Given the description of an element on the screen output the (x, y) to click on. 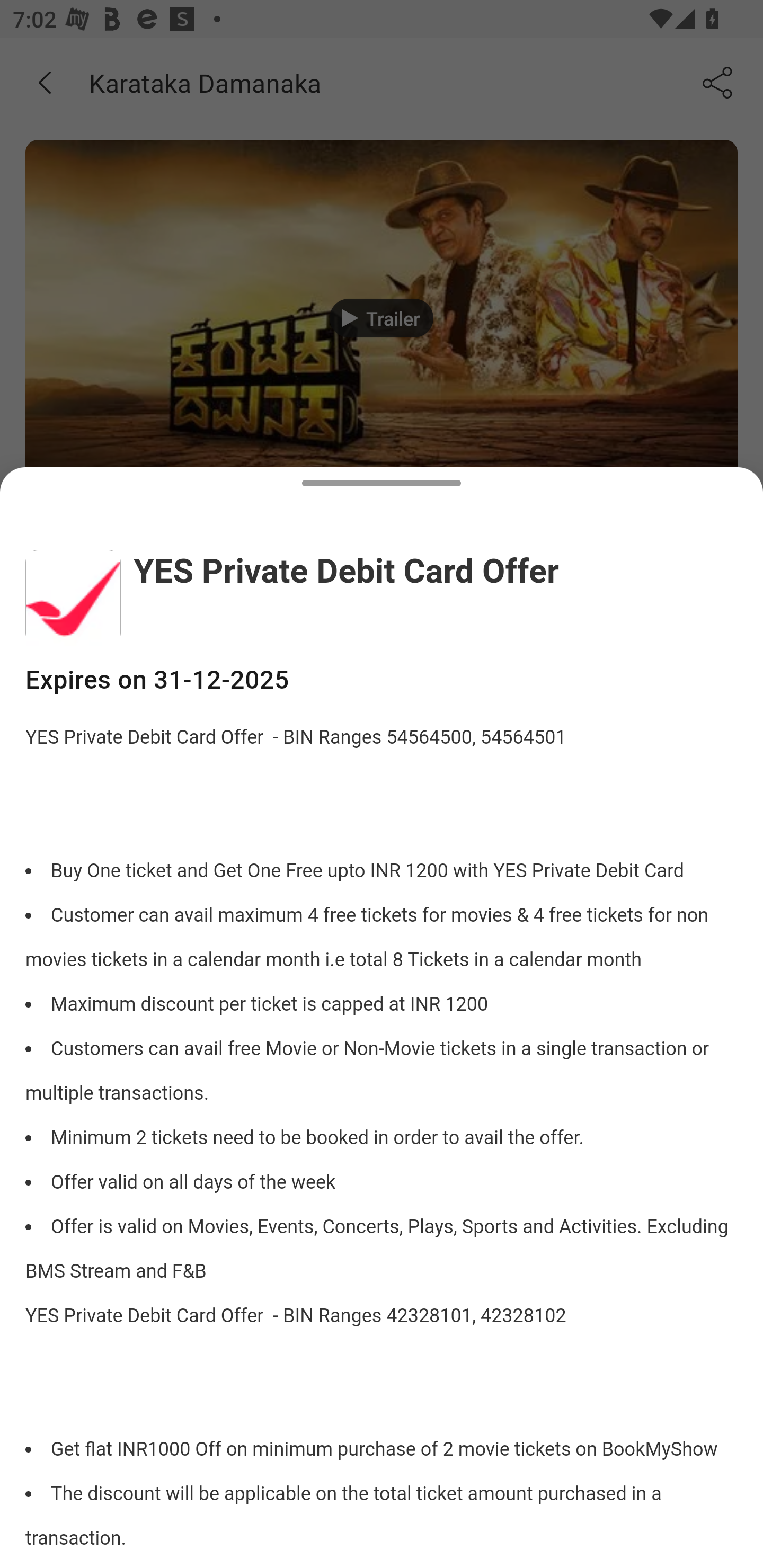
Expires on 31-12-2025 (381, 680)
